Given the description of an element on the screen output the (x, y) to click on. 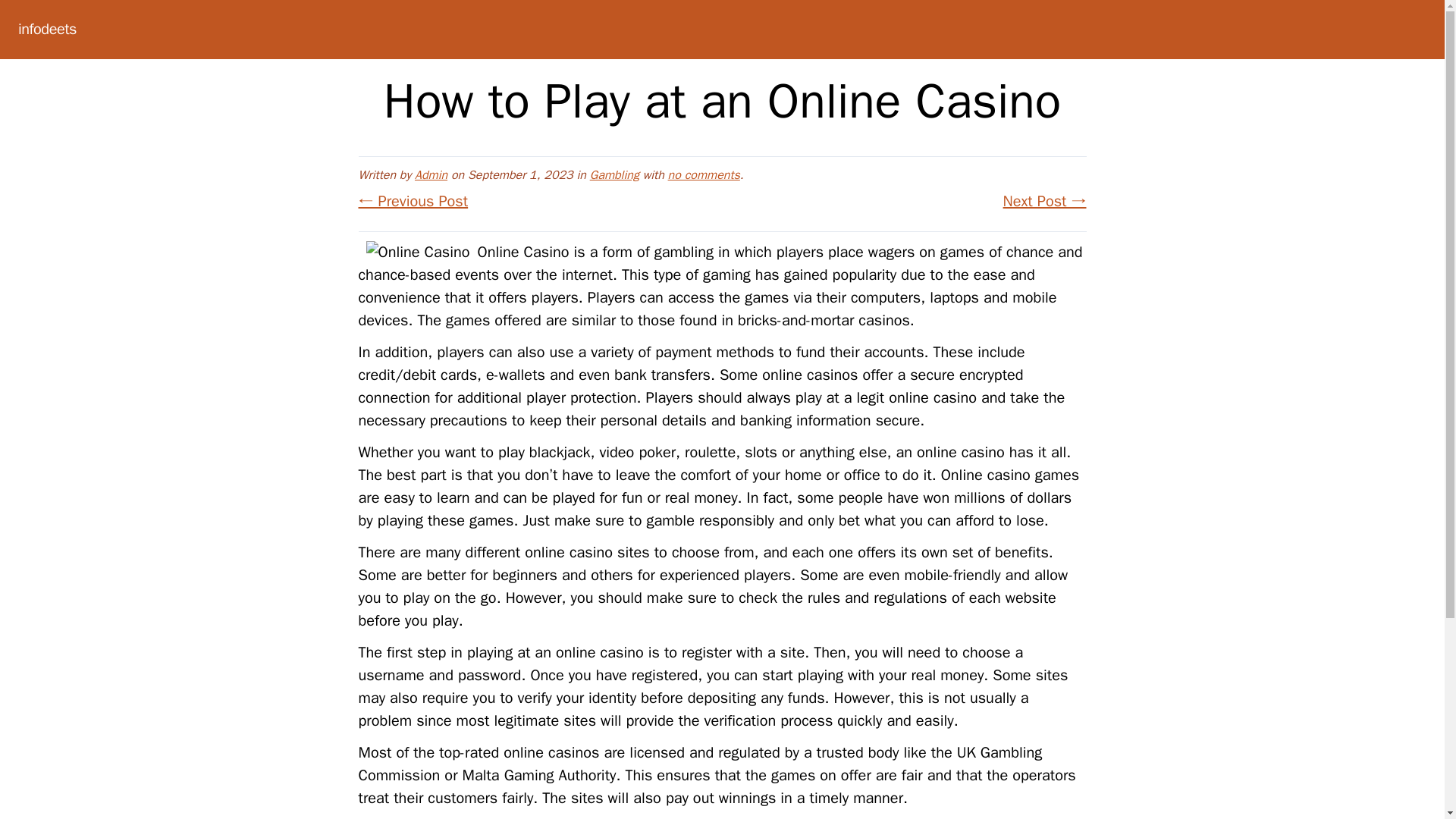
infodeets (47, 29)
Admin (430, 174)
no comments (703, 174)
no comments (703, 174)
Gambling (614, 174)
